Given the description of an element on the screen output the (x, y) to click on. 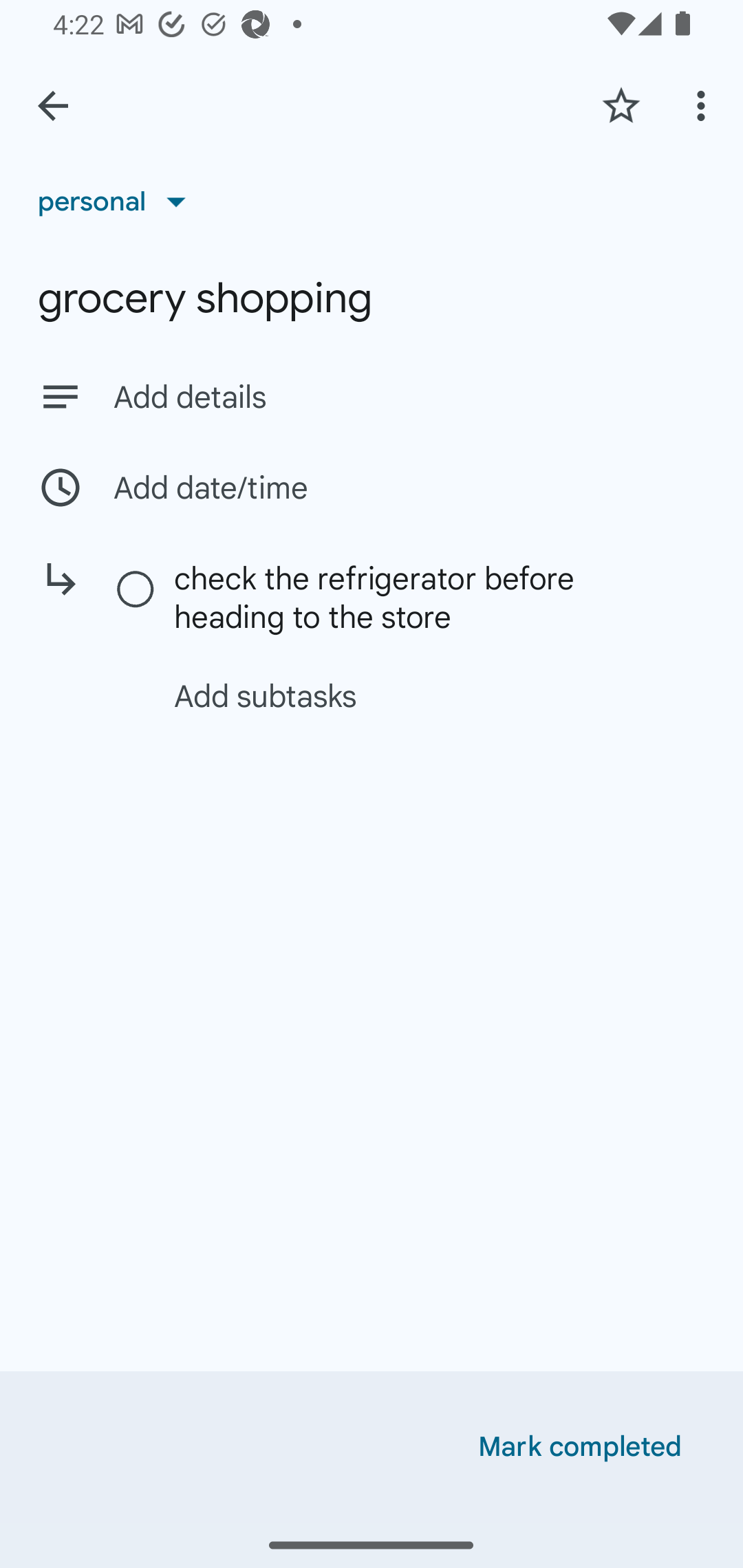
Back (53, 105)
Add star (620, 105)
More options (704, 105)
personal List, personal selected, 1 of 15 (118, 201)
grocery shopping (371, 298)
Add details (371, 396)
Add details (409, 397)
Add date/time (371, 487)
check the refrigerator before heading to the store (401, 597)
Mark as complete (136, 590)
Add subtasks (394, 695)
Mark completed (580, 1446)
